Given the description of an element on the screen output the (x, y) to click on. 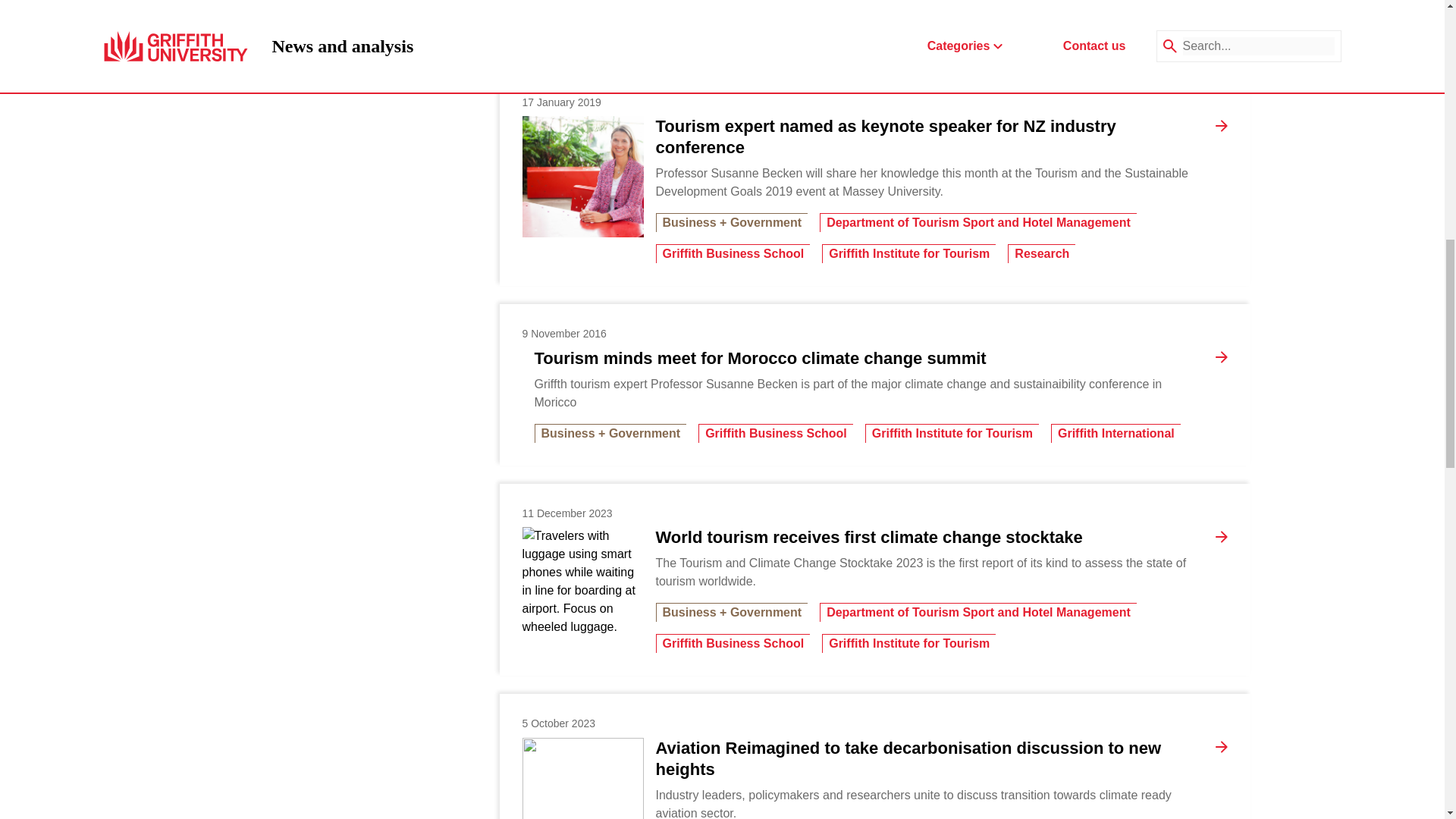
World tourism receives first climate change stocktake (582, 587)
World tourism receives first climate change stocktake (868, 537)
Tourism minds meet for Morocco climate change summit (759, 358)
